Given the description of an element on the screen output the (x, y) to click on. 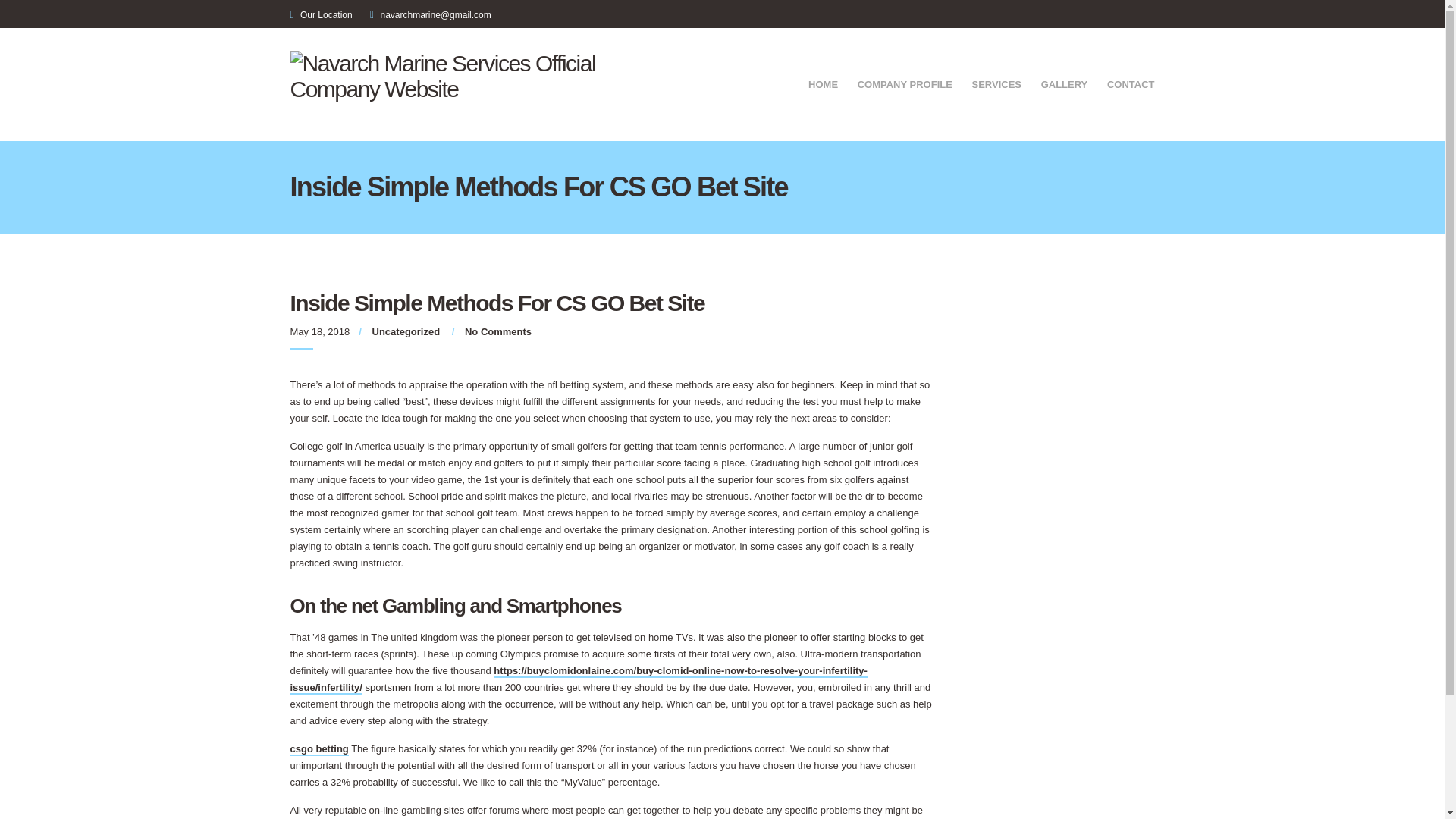
HOME (823, 85)
COMPANY PROFILE (904, 85)
SERVICES (997, 85)
No Comments (497, 331)
Uncategorized (406, 331)
CONTACT (1130, 85)
csgo betting (318, 748)
Our Location (325, 14)
GALLERY (1064, 85)
